Given the description of an element on the screen output the (x, y) to click on. 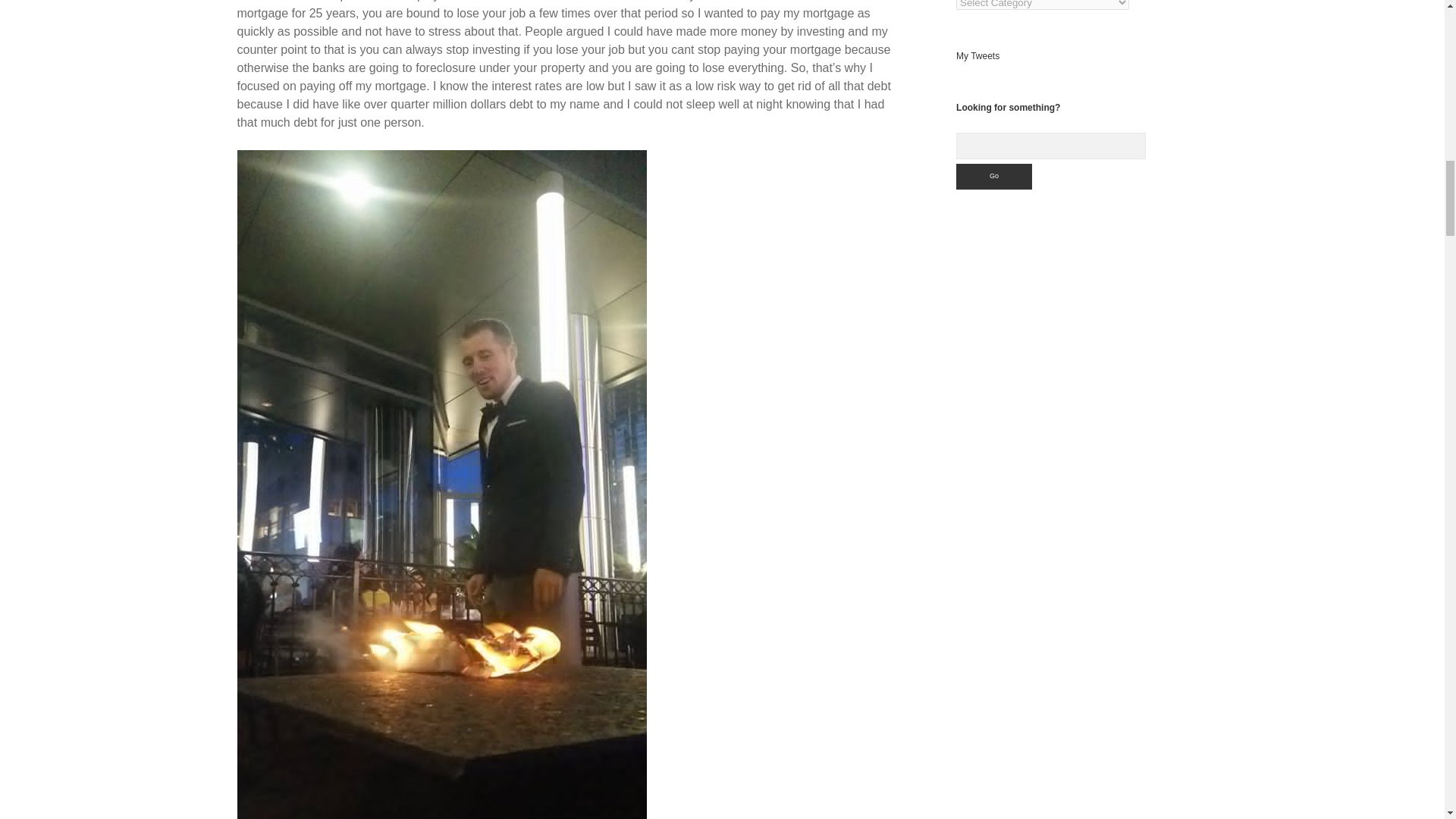
Go (994, 176)
Go (994, 176)
Search for: (1050, 145)
